Given the description of an element on the screen output the (x, y) to click on. 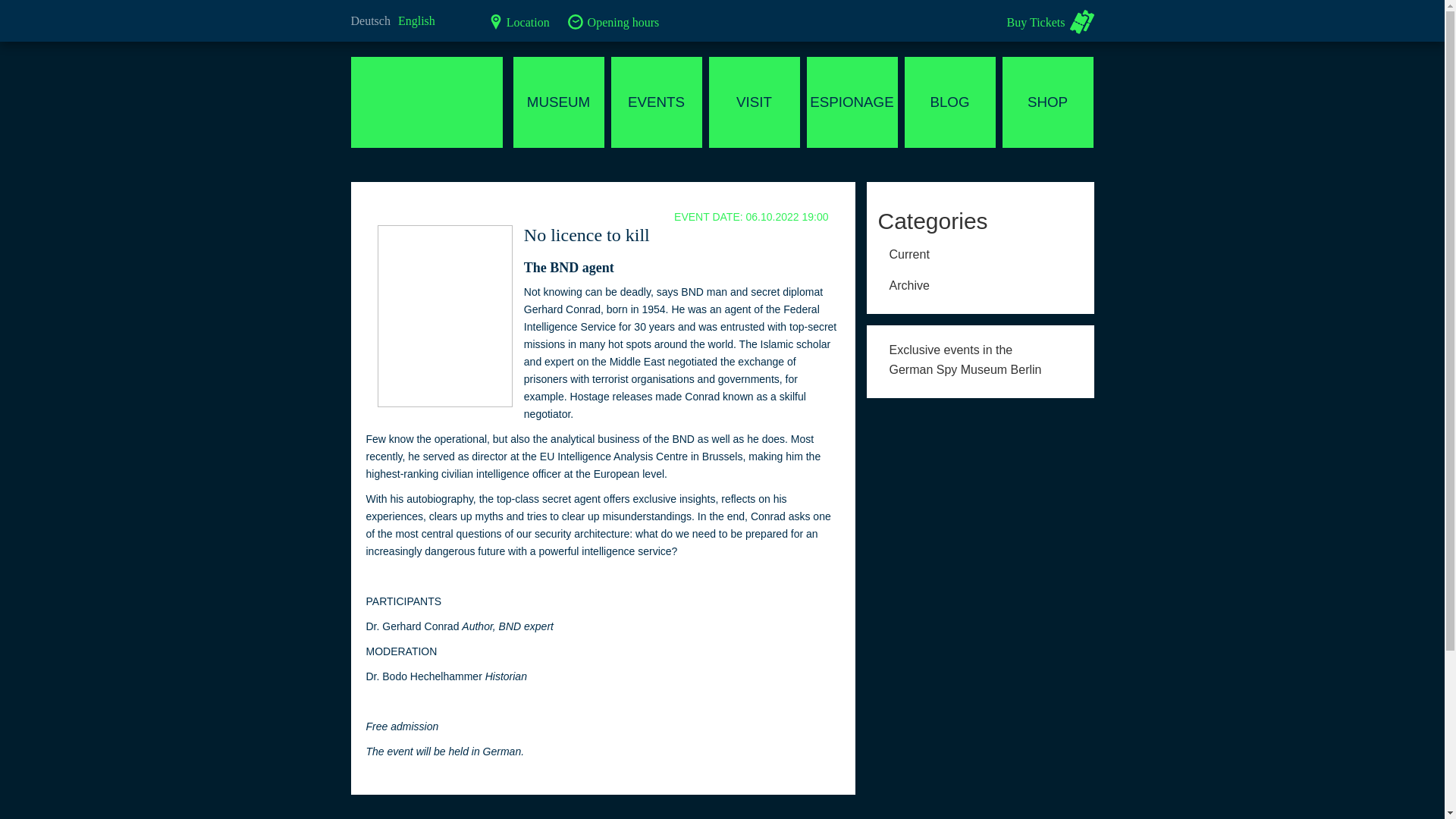
BLOG (949, 102)
Location (518, 20)
Deutsches Spionagemuseum (426, 102)
No licence to kill (586, 234)
SHOP (1048, 102)
MUSEUM (558, 102)
Opening hours (613, 20)
English (980, 357)
